Given the description of an element on the screen output the (x, y) to click on. 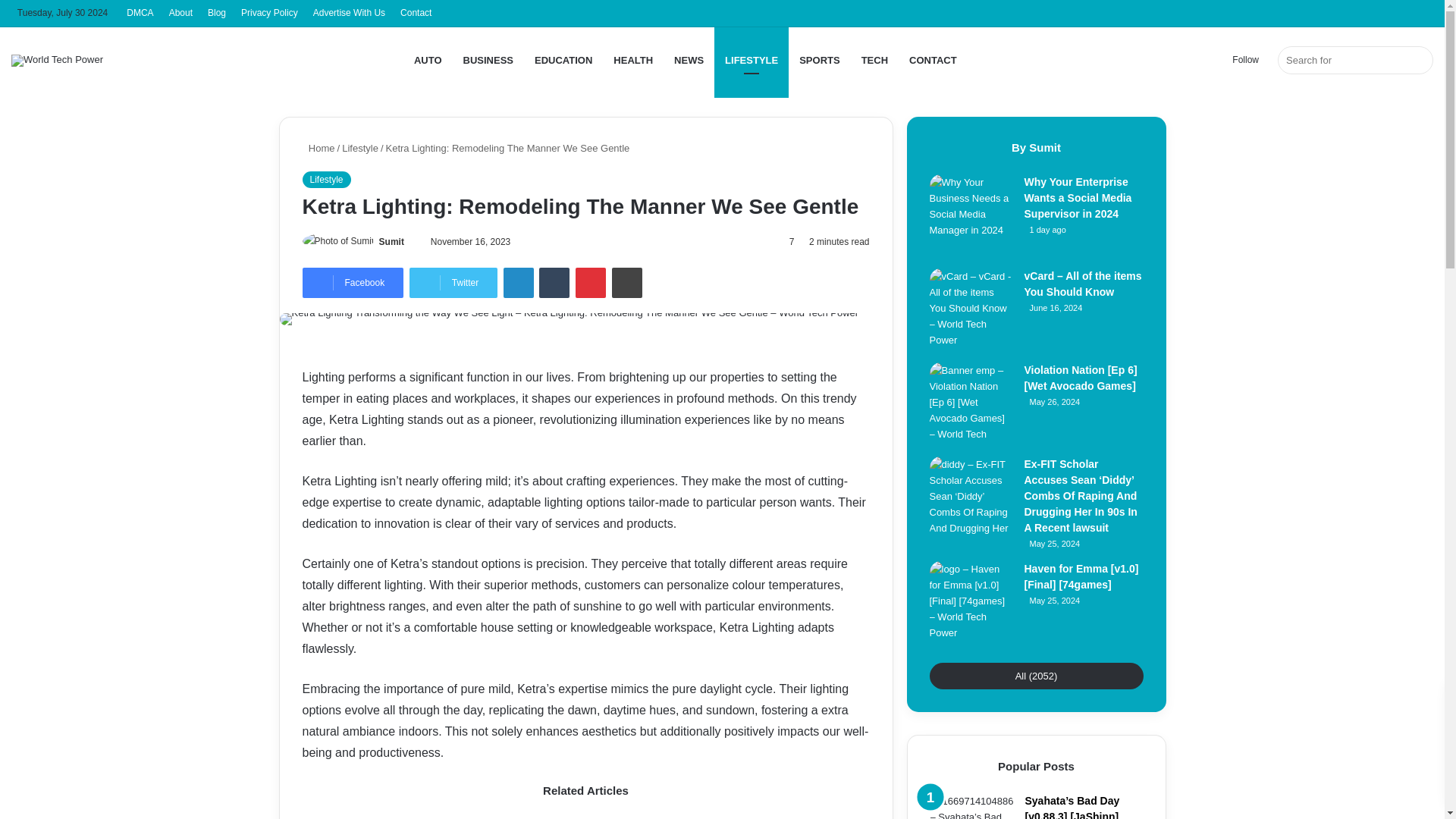
DMCA (139, 13)
Facebook (352, 282)
World Tech Power (57, 60)
LinkedIn (518, 282)
Sumit (391, 241)
LIFESTYLE (751, 60)
Advertise With Us (349, 13)
Twitter (453, 282)
SPORTS (819, 60)
Sumit (391, 241)
Privacy Policy (268, 13)
BUSINESS (488, 60)
Contact (416, 13)
Lifestyle (325, 179)
HEALTH (632, 60)
